Given the description of an element on the screen output the (x, y) to click on. 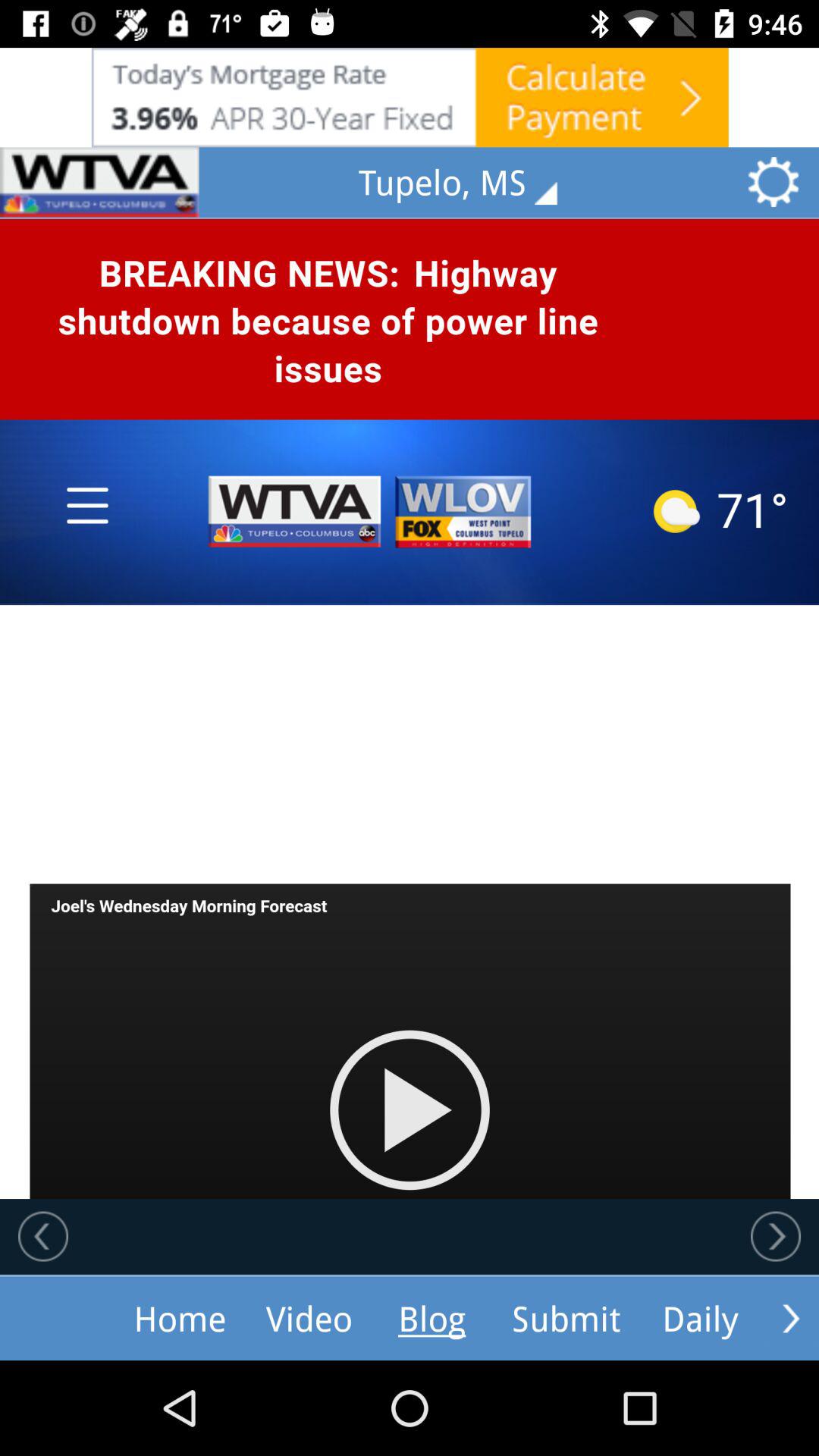
go to site home (99, 182)
